Given the description of an element on the screen output the (x, y) to click on. 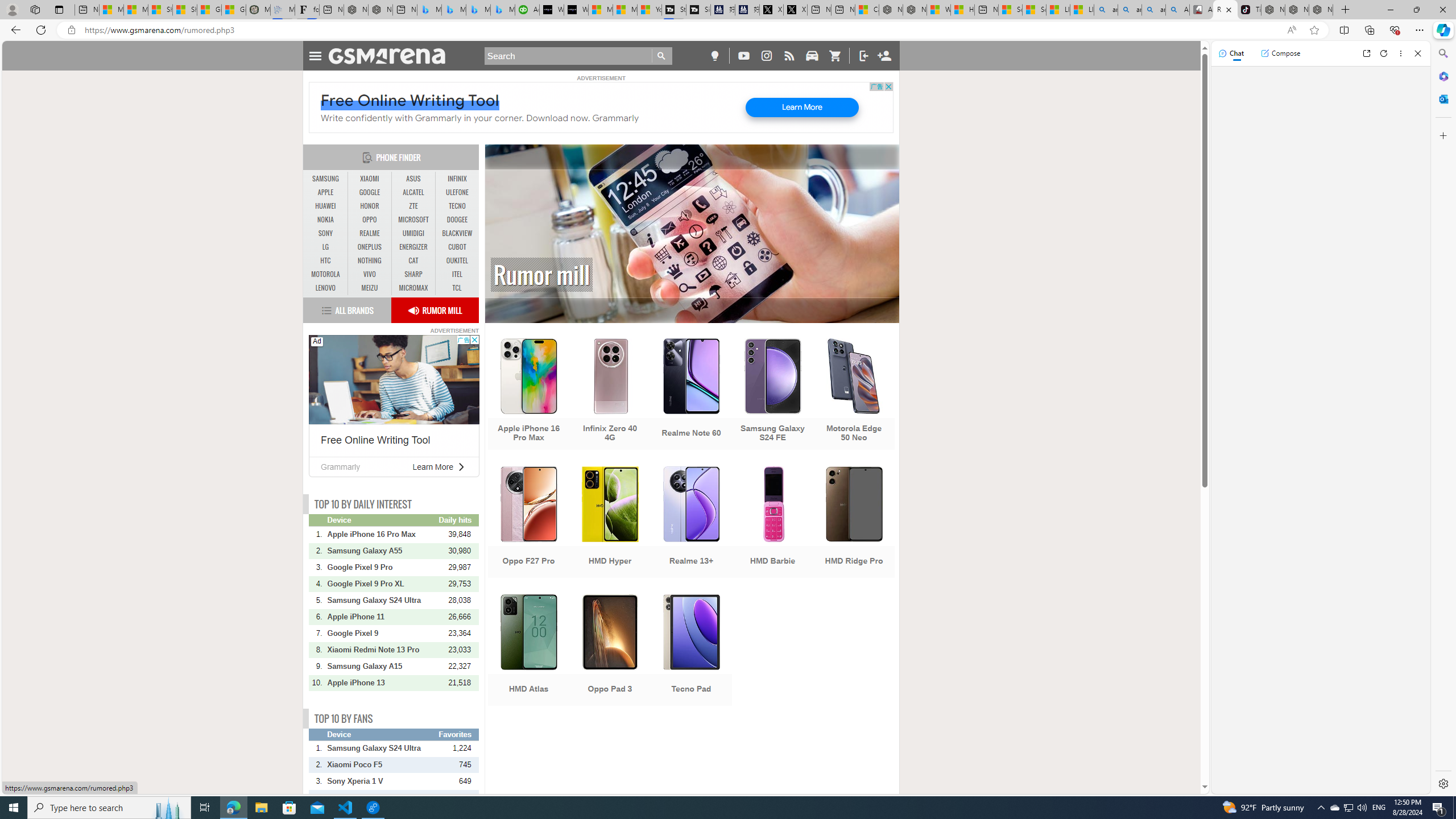
ASUS (413, 178)
NOKIA (325, 219)
Apple iPhone 13 (381, 682)
